Given the description of an element on the screen output the (x, y) to click on. 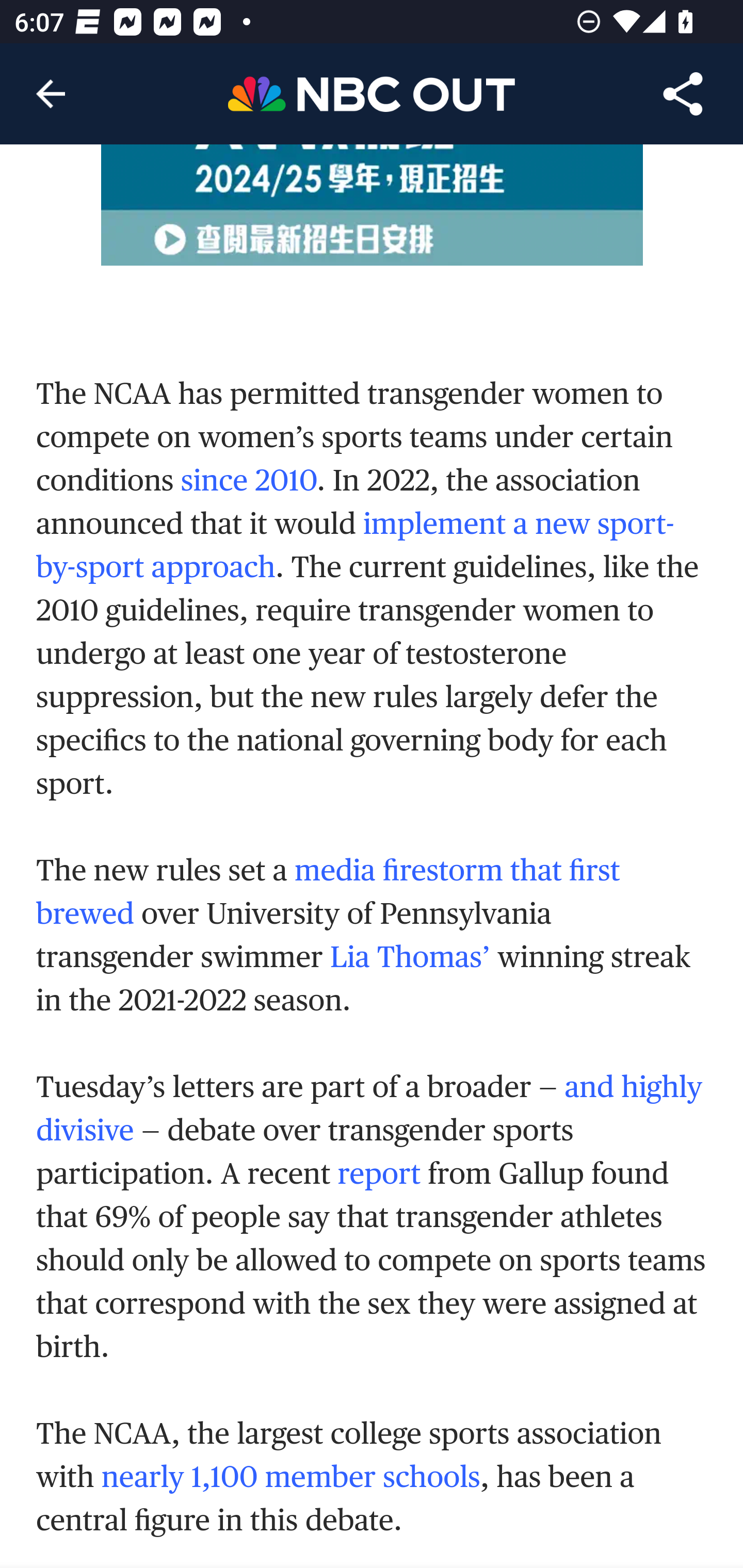
Navigate up (50, 93)
Share Article, button (683, 94)
Header, NBC Out (371, 93)
since 2010 (249, 482)
 implement a new sport-by-sport approach (355, 546)
media firestorm that first brewed (328, 892)
Lia Thomas’ (409, 958)
and highly divisive (369, 1109)
report (378, 1175)
nearly 1,100 member schools (290, 1477)
